Given the description of an element on the screen output the (x, y) to click on. 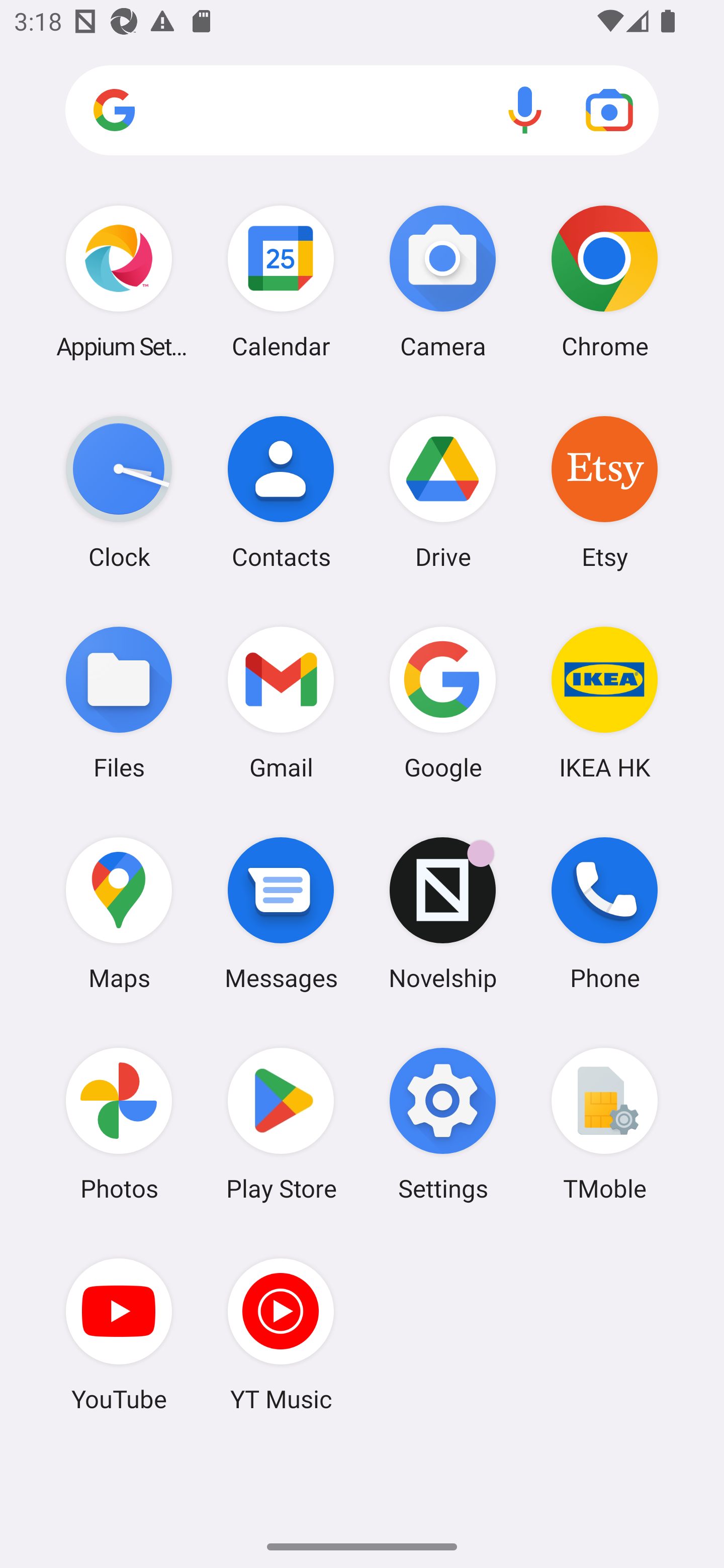
Search apps, web and more (361, 110)
Voice search (524, 109)
Google Lens (608, 109)
Appium Settings (118, 281)
Calendar (280, 281)
Camera (443, 281)
Chrome (604, 281)
Clock (118, 492)
Contacts (280, 492)
Drive (443, 492)
Etsy (604, 492)
Files (118, 702)
Gmail (280, 702)
Google (443, 702)
IKEA HK (604, 702)
Maps (118, 913)
Messages (280, 913)
Novelship Novelship has 5 notifications (443, 913)
Phone (604, 913)
Photos (118, 1124)
Play Store (280, 1124)
Settings (443, 1124)
TMoble (604, 1124)
YouTube (118, 1334)
YT Music (280, 1334)
